Given the description of an element on the screen output the (x, y) to click on. 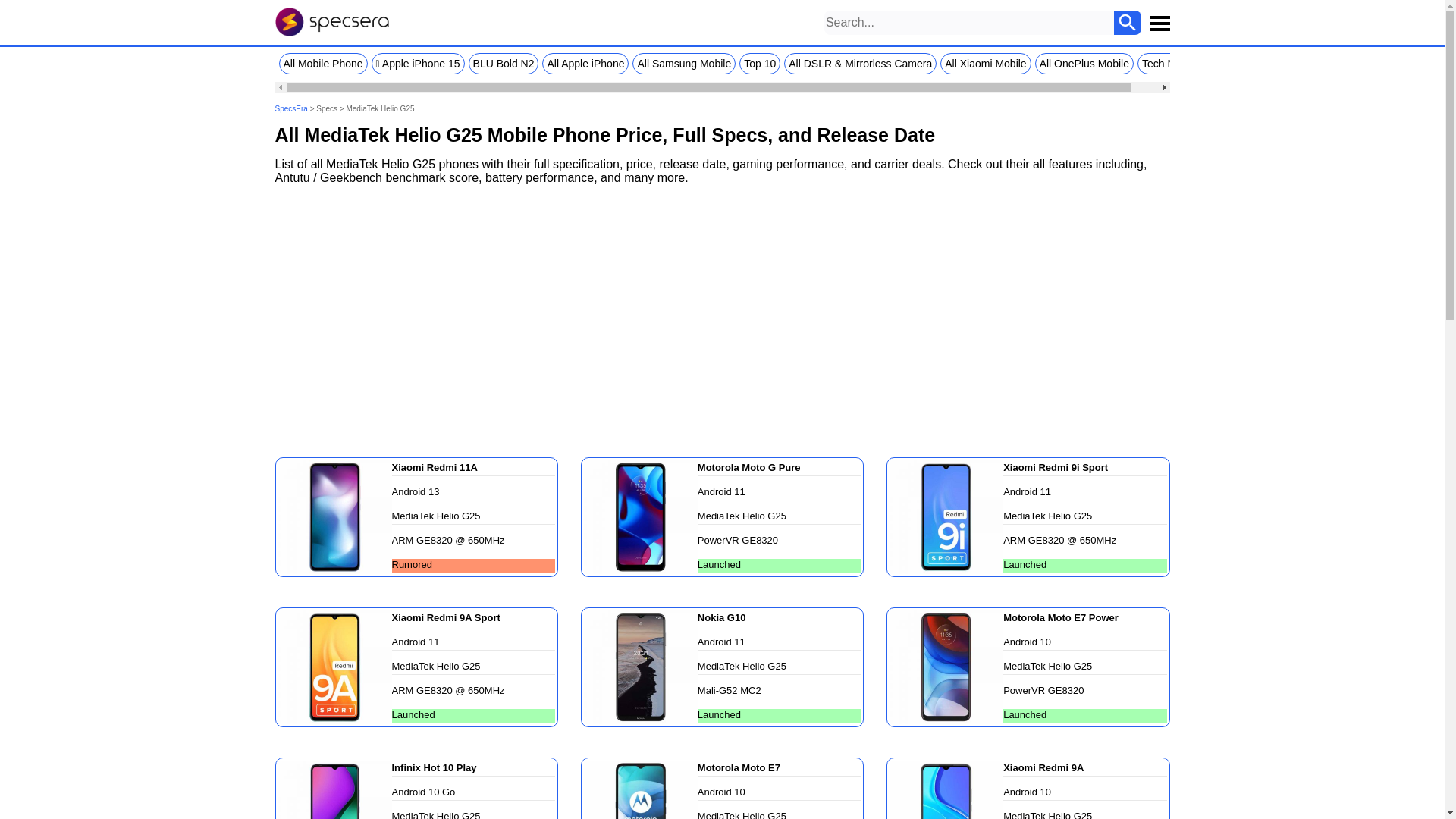
All OnePlus Mobile (1084, 63)
All Mobile Phone (323, 63)
All Xiaomi Mobile (985, 63)
Search for: (969, 22)
Xiaomi Redmi 9A Sport Price, Full Specs and Release Date (334, 666)
All Samsung Mobile (683, 63)
Top 10 (759, 63)
Motorola Moto E7 Power Price, Full Specs and Release Date (946, 666)
Nokia G10 Price, Full Specs and Release Date (640, 666)
Xiaomi Redmi 11A Price, Full Specs and Release Date (334, 516)
